Given the description of an element on the screen output the (x, y) to click on. 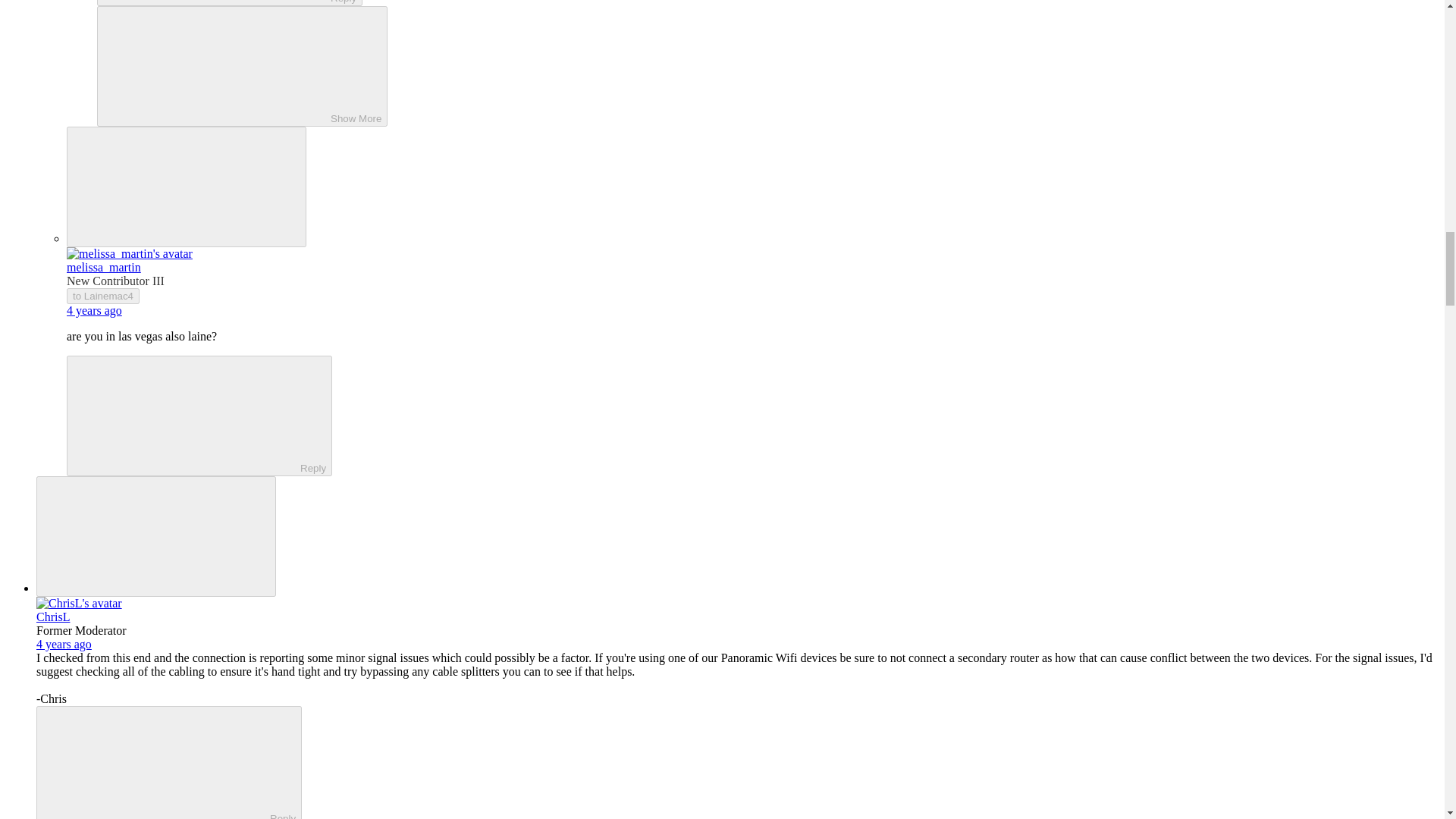
August 10, 2020 at 1:15 PM (94, 309)
Reply (185, 414)
August 3, 2020 at 5:47 PM (63, 644)
Reply (155, 763)
